Given the description of an element on the screen output the (x, y) to click on. 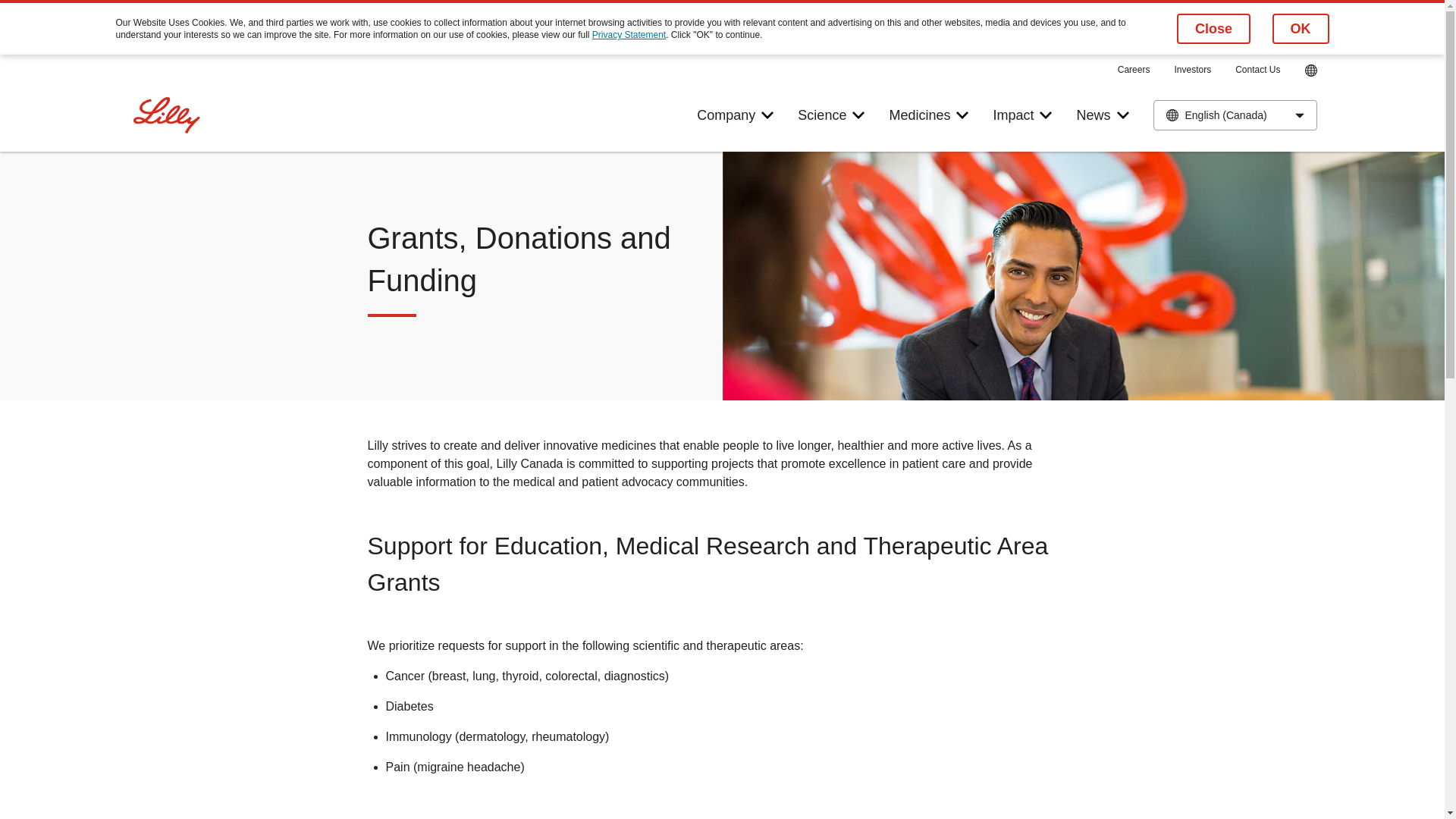
OK (1300, 28)
Expand submenu (962, 114)
Close (1213, 28)
Reveal available languages (1299, 115)
Expand submenu (857, 114)
Globe (1310, 69)
Globe (1310, 70)
Expand submenu (767, 114)
Globe (1310, 70)
Privacy Statement (628, 34)
Lilly (166, 115)
Lilly (166, 114)
